Given the description of an element on the screen output the (x, y) to click on. 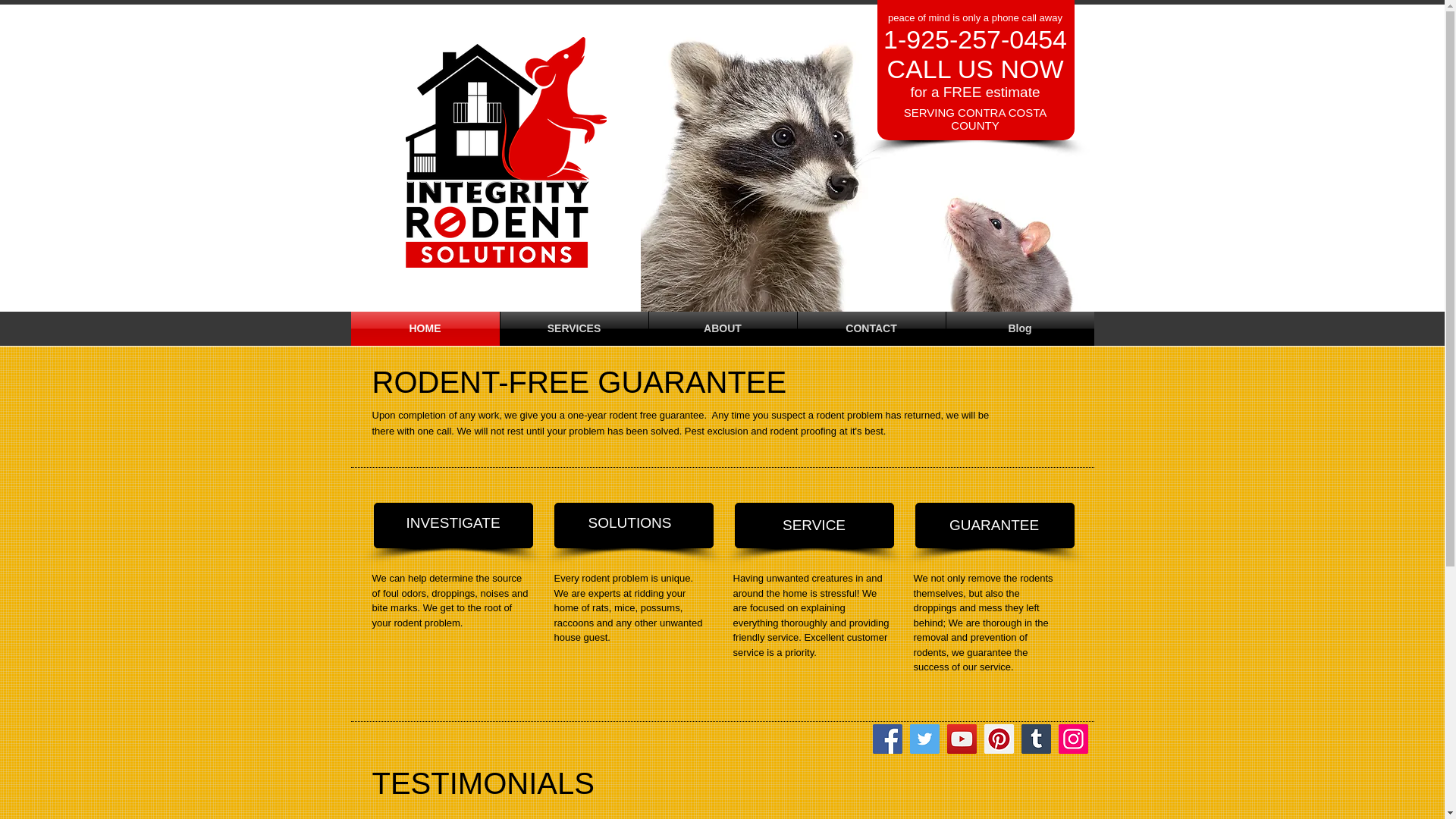
ABOUT (722, 328)
SERVICES (573, 328)
TESTIMONIALS (482, 783)
Blog (1020, 328)
CONTACT (870, 328)
HOME (424, 328)
